Given the description of an element on the screen output the (x, y) to click on. 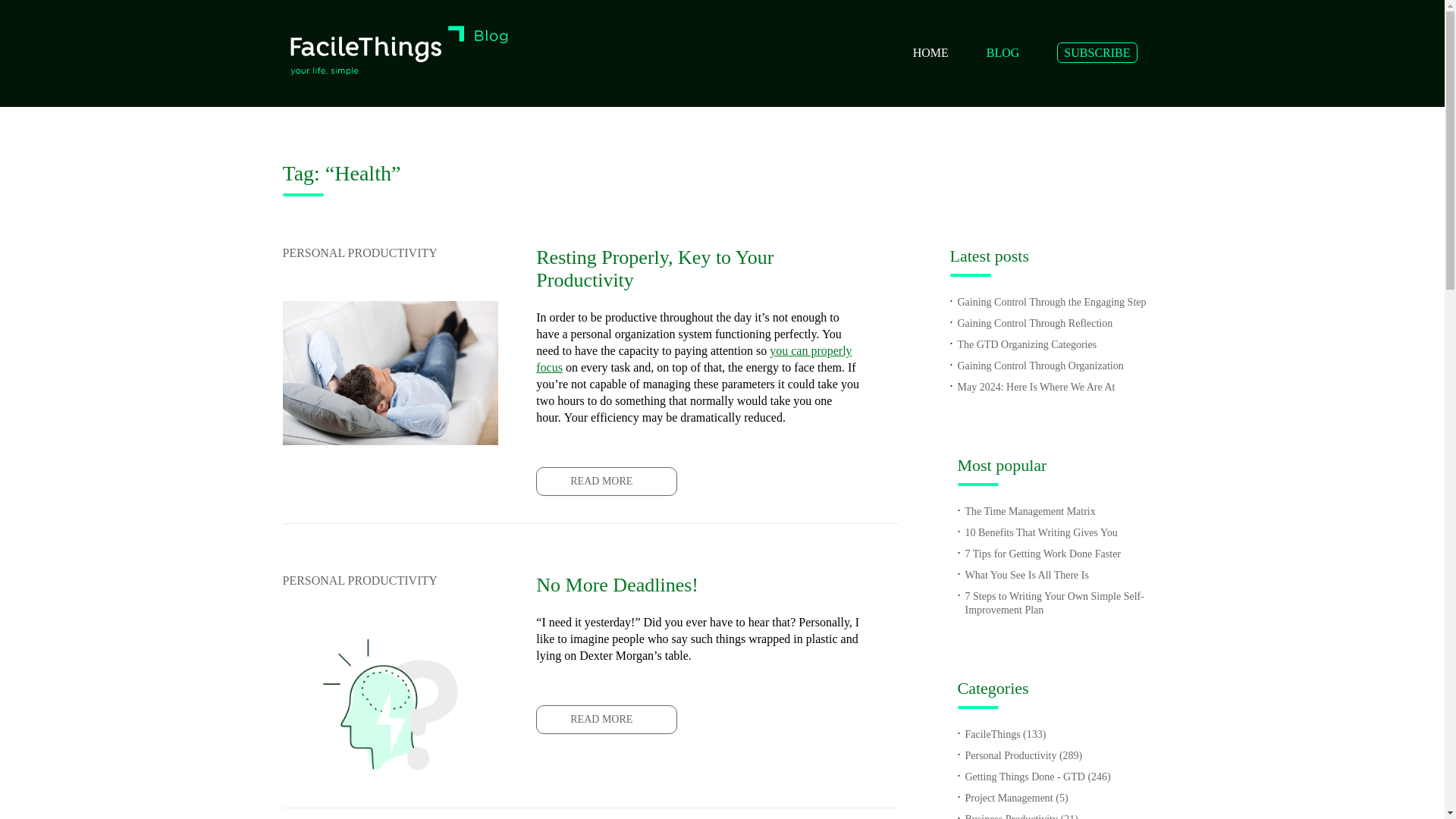
you can properly focus (693, 358)
READ MORE     (606, 719)
Gaining Control Through Reflection (1034, 323)
Gaining Control Through Organization (1039, 365)
Resting Properly, Key to Your Productivity (697, 268)
READ MORE     (606, 481)
The Time Management Matrix (1028, 511)
HOME (930, 51)
May 2024: Here Is Where We Are At (1035, 387)
No More Deadlines! (697, 585)
7 Steps to Writing Your Own Simple Self-Improvement Plan (1052, 602)
Gaining Control Through the Engaging Step (1050, 301)
SUBSCRIBE (1097, 52)
BLOG (1003, 51)
10 Benefits That Writing Gives You (1039, 532)
